Given the description of an element on the screen output the (x, y) to click on. 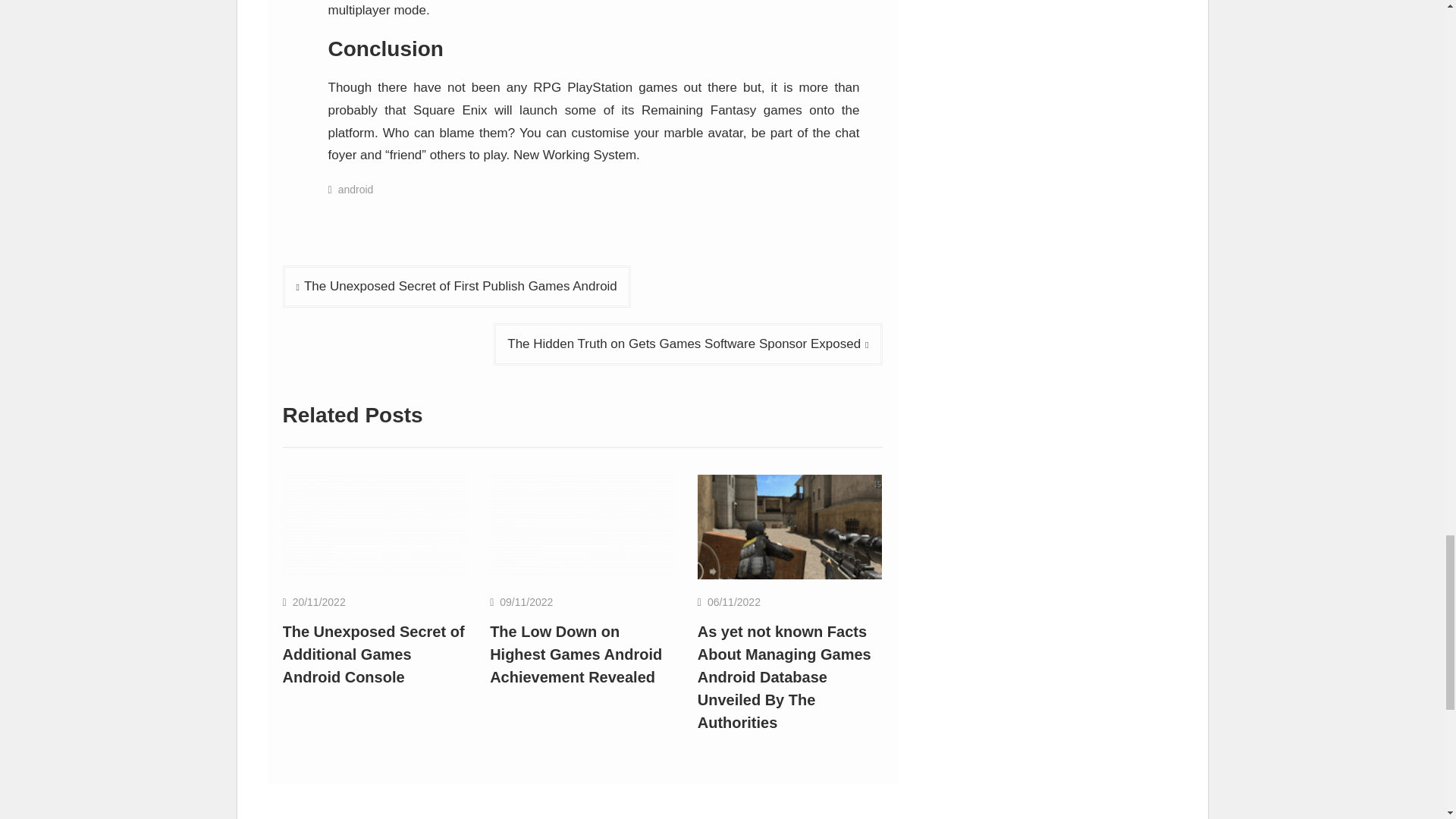
The Low Down on Highest Games Android Achievement Revealed (575, 654)
The Hidden Truth on Gets Games Software Sponsor Exposed (687, 343)
The Unexposed Secret of Additional Games Android Console (373, 654)
The Unexposed Secret of First Publish Games Android (456, 286)
android (355, 189)
The Unexposed Secret of Additional Games Android Console (374, 526)
The Low Down on Highest Games Android Achievement Revealed (582, 526)
